Given the description of an element on the screen output the (x, y) to click on. 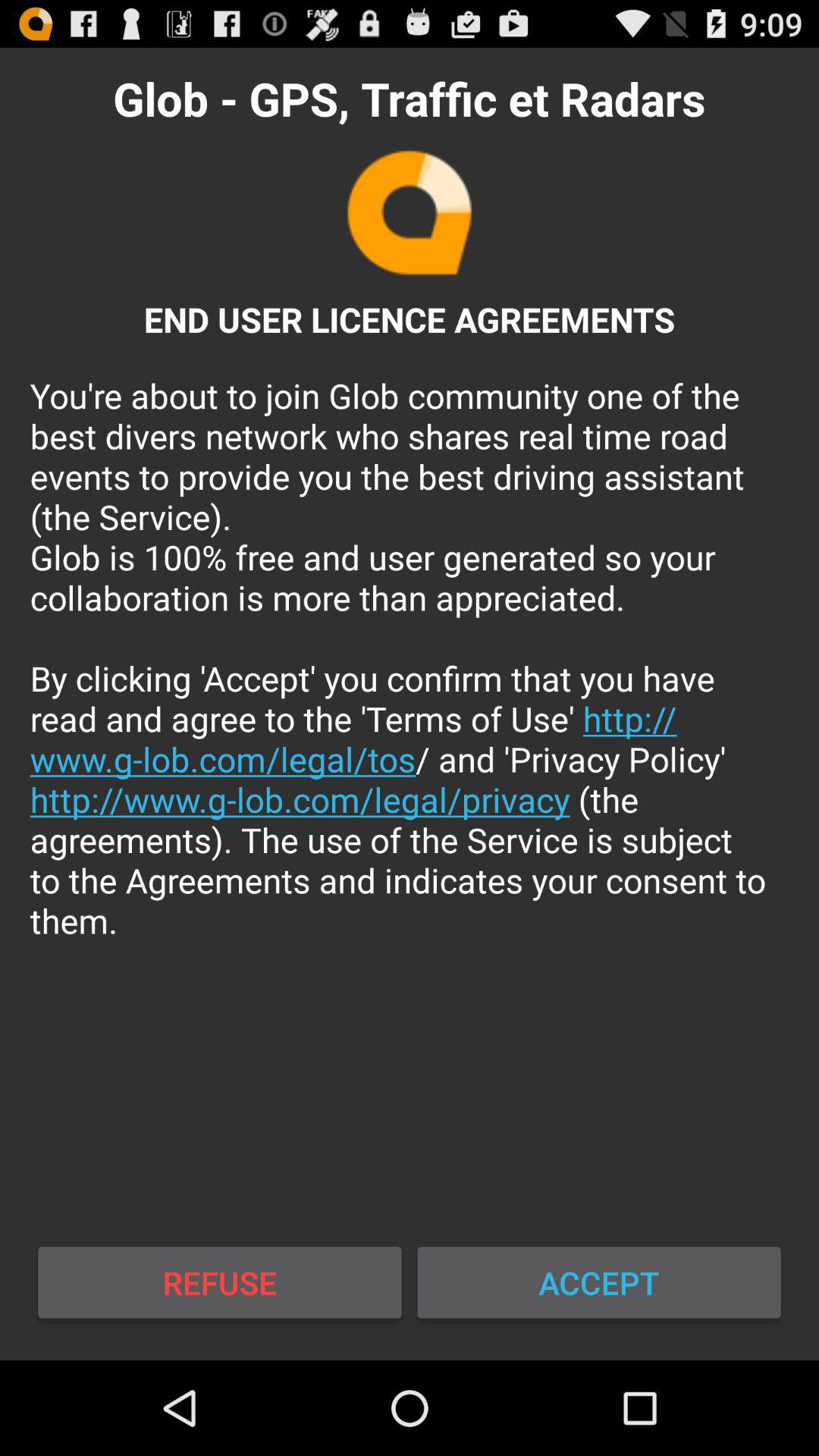
swipe to the you re about app (409, 657)
